Given the description of an element on the screen output the (x, y) to click on. 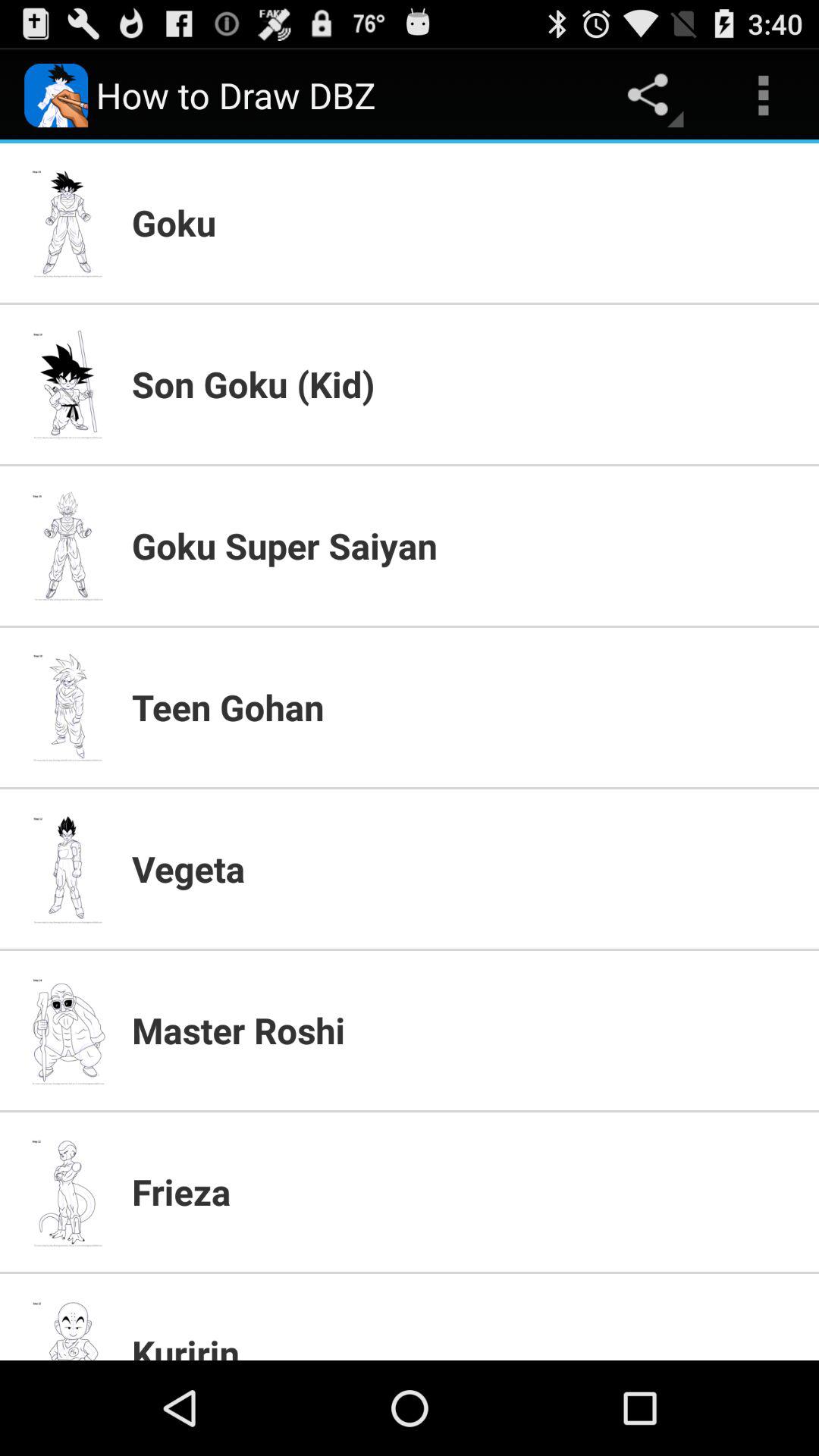
turn off app below vegeta (465, 1030)
